Given the description of an element on the screen output the (x, y) to click on. 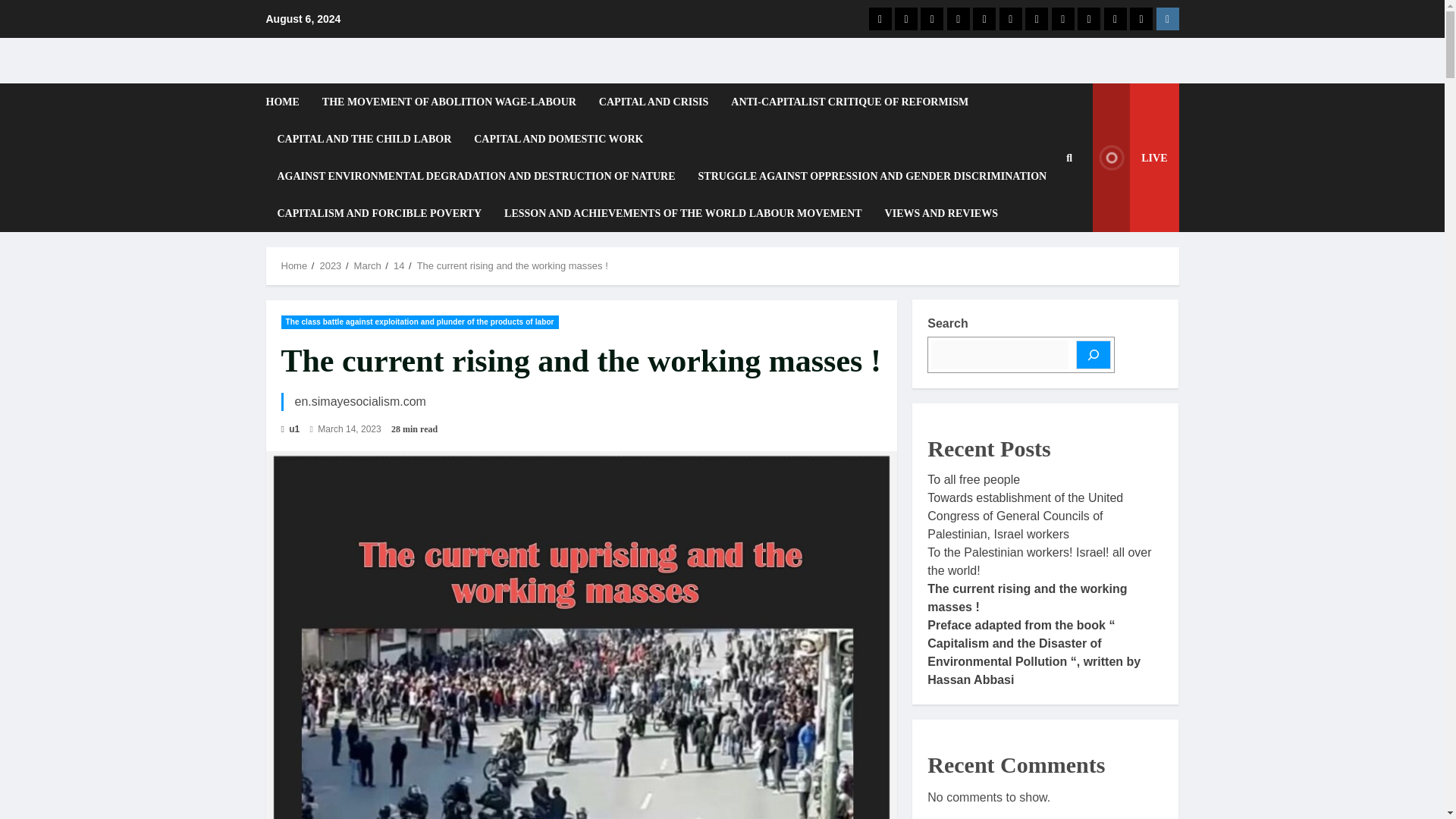
workersagainstagainstwagelaboursystem (1166, 18)
AGAINST ENVIRONMENTAL DEGRADATION AND DESTRUCTION OF NATURE (474, 176)
ANTI-CAPITALIST CRITIQUE OF REFORMISM (849, 101)
Struggle against oppression and gender discrimination (1010, 18)
HOME (287, 101)
Home (294, 265)
Capital and crisis (931, 18)
Search (1045, 287)
STRUGGLE AGAINST OPPRESSION AND GENDER DISCRIMINATION (872, 176)
CAPITAL AND CRISIS (653, 101)
The current rising and the working masses ! (512, 265)
CAPITALISM AND FORCIBLE POVERTY (378, 212)
Lesson and achievements of the world labour movement (1088, 18)
